Given the description of an element on the screen output the (x, y) to click on. 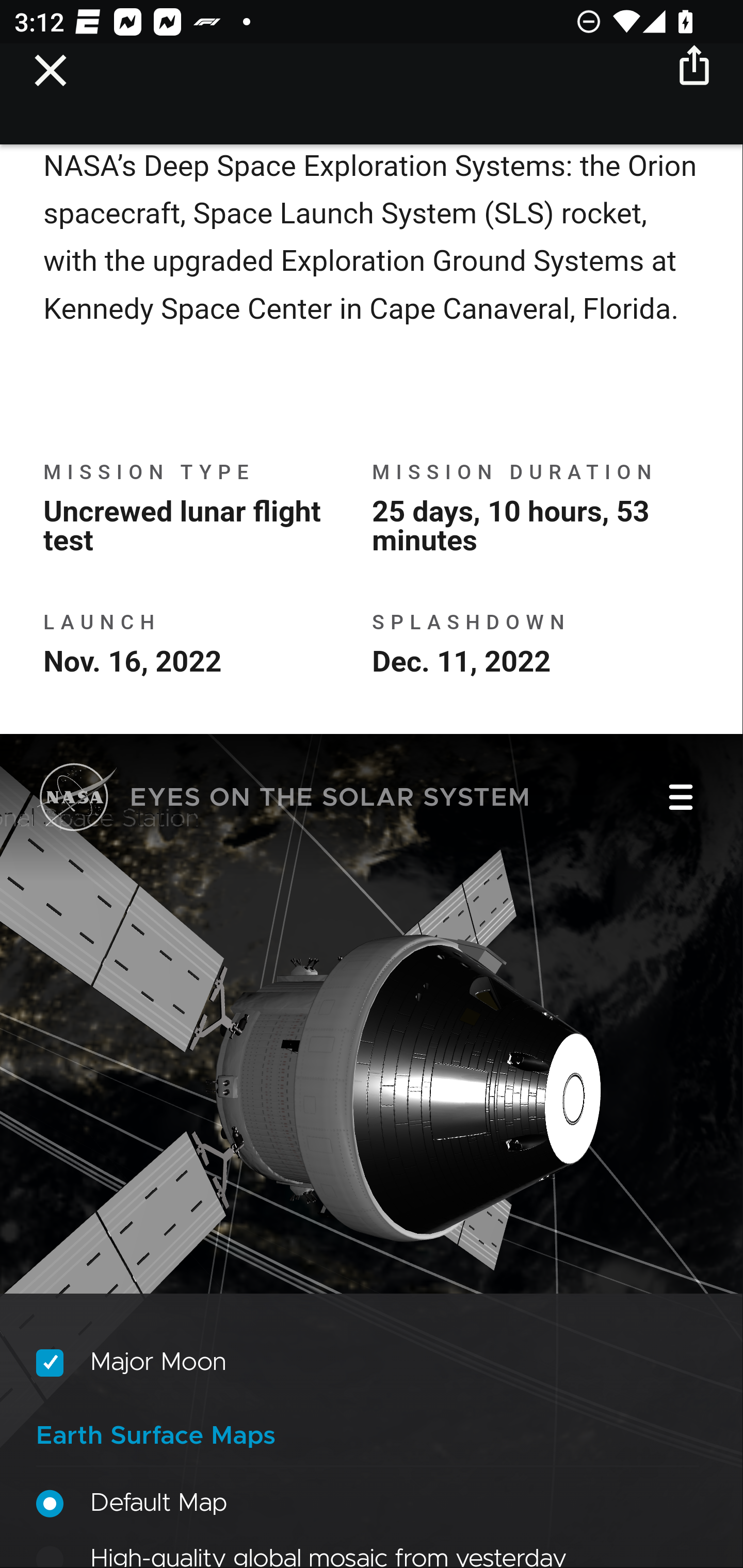
EYES ON THE SOLAR SYSTEM (283, 800)
Major Moon (368, 1364)
Default Map (368, 1504)
High-quality global mosaic from yesterday (368, 1554)
